Given the description of an element on the screen output the (x, y) to click on. 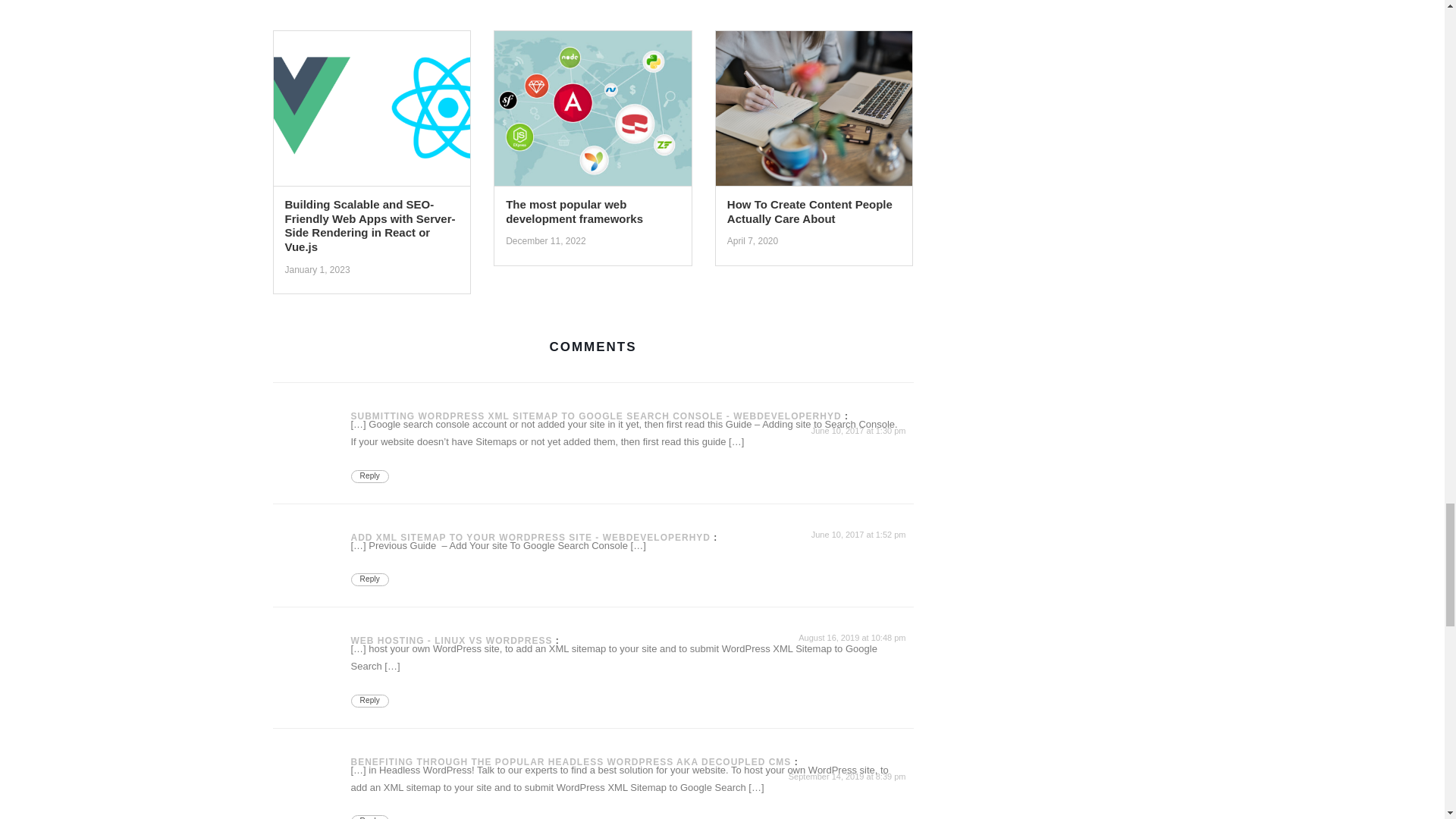
How To Create Content People Actually Care About (814, 112)
The most popular web development frameworks (593, 112)
